Given the description of an element on the screen output the (x, y) to click on. 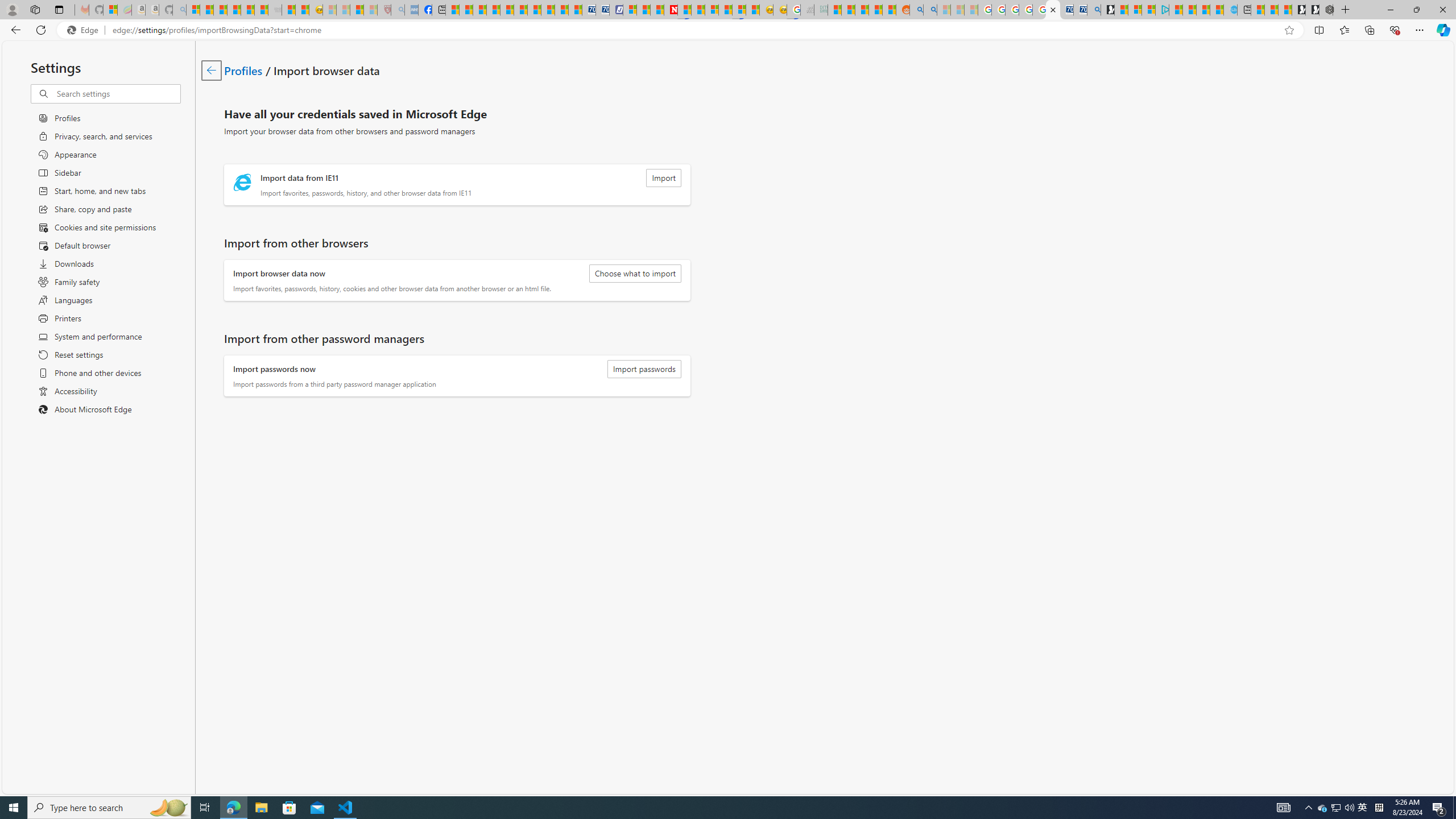
Student Loan Update: Forgiveness Program Ends This Month (874, 9)
Go back to Profiles page. (210, 70)
Bing Real Estate - Home sales and rental listings (1093, 9)
